Given the description of an element on the screen output the (x, y) to click on. 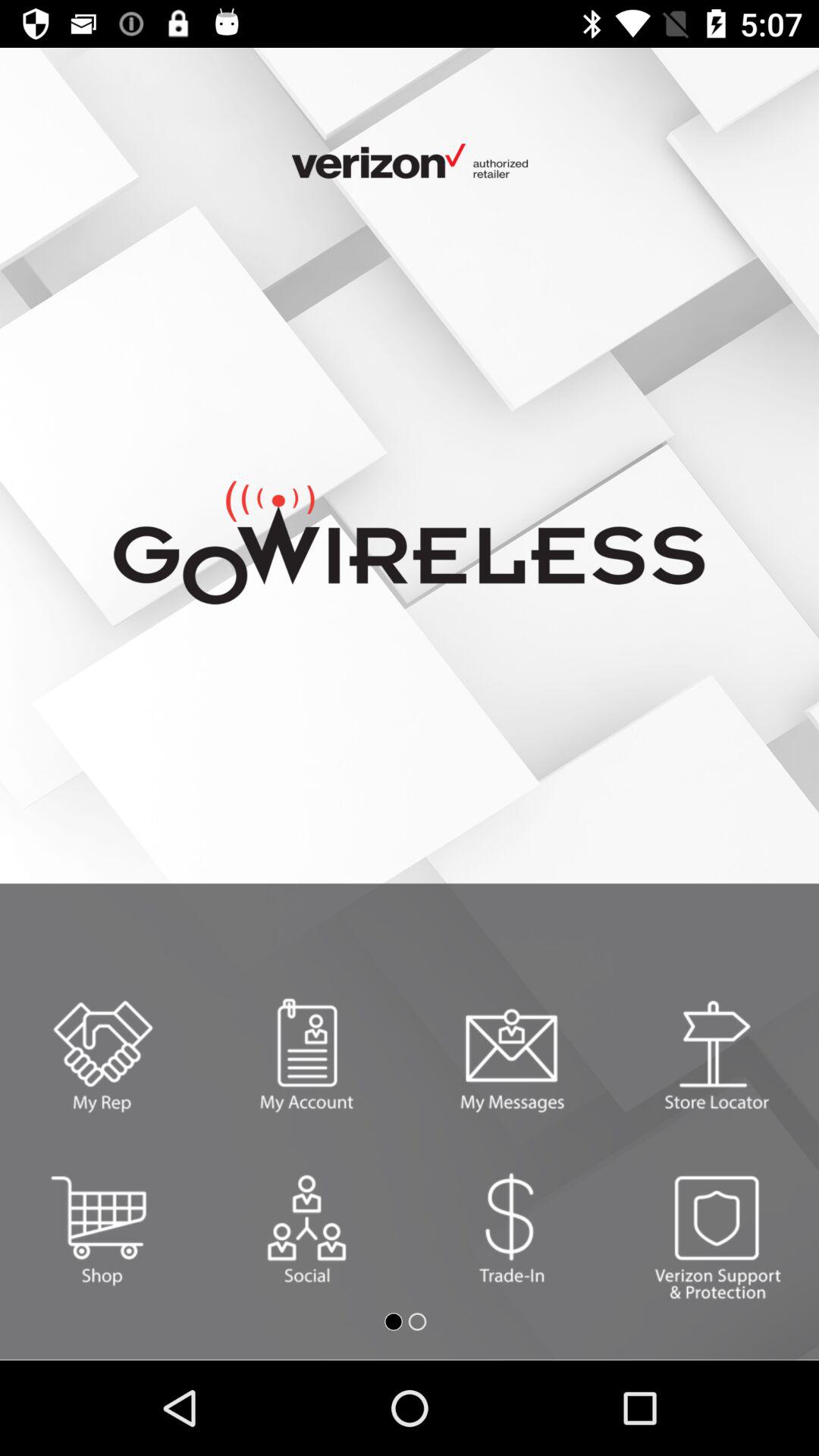
go to shop (102, 1228)
